Given the description of an element on the screen output the (x, y) to click on. 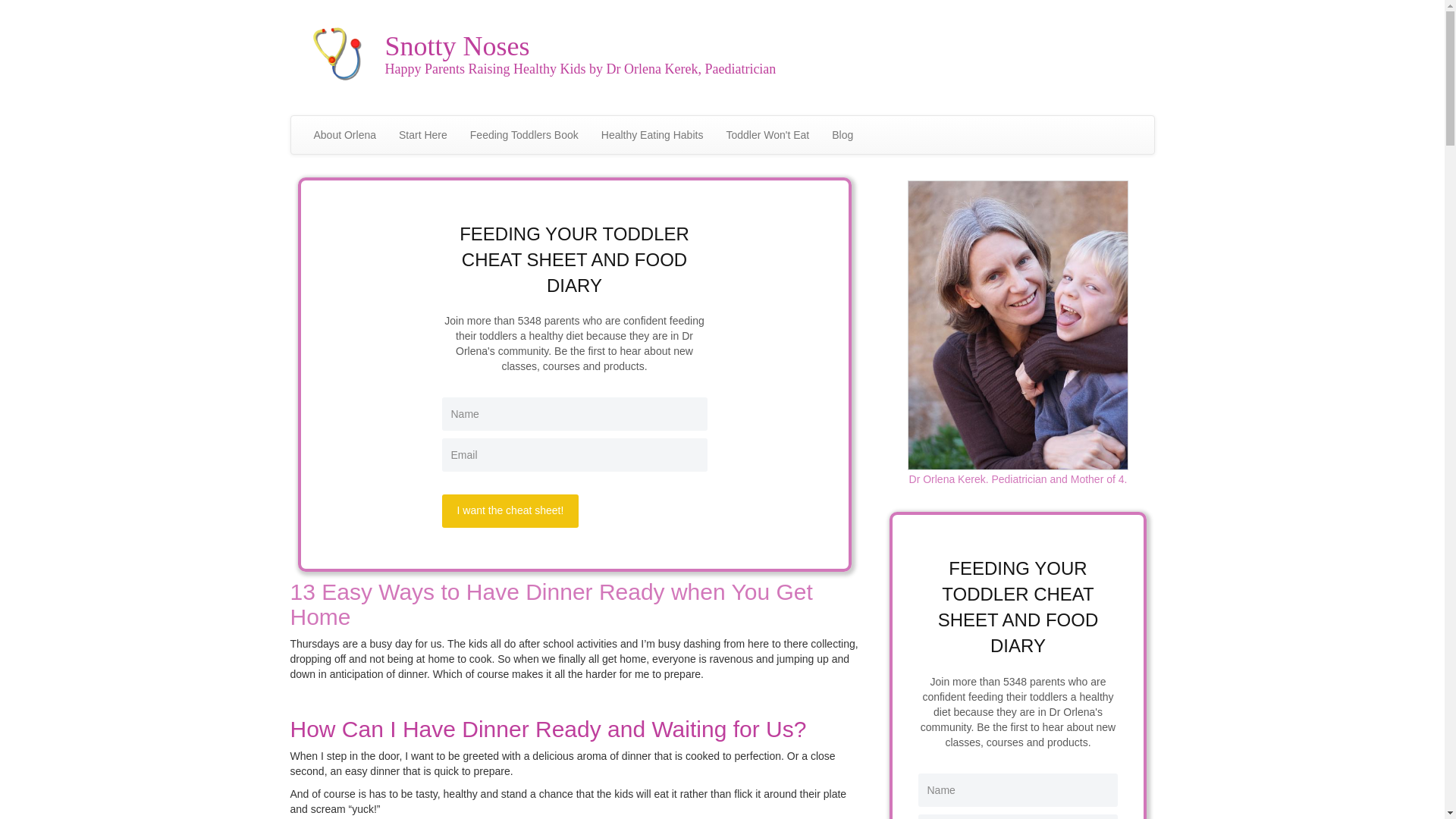
Dr Orlena Kerek. Pediatrician and Mother of 4. (1017, 479)
13 Easy Ways to Have Dinner Ready when You Get Home (550, 604)
Healthy Eating Habits (651, 134)
13 Easy Ways to Have Dinner Ready when You Get Home (550, 604)
Start Here (422, 134)
About Orlena (344, 134)
Toddler Won't Eat (767, 134)
I want the cheat sheet! (509, 510)
Feeding Toddlers Book (523, 134)
